Given the description of an element on the screen output the (x, y) to click on. 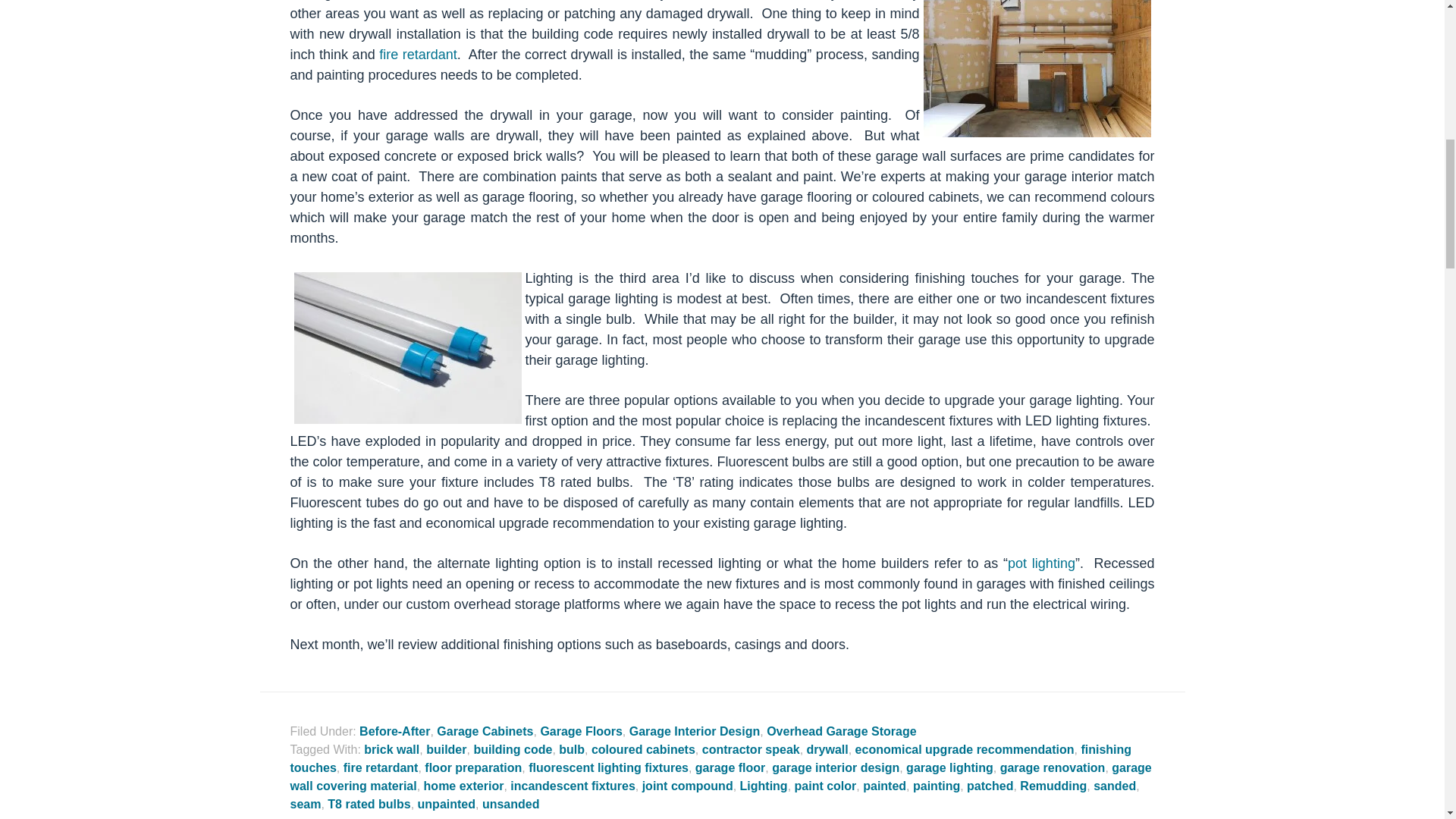
Fire retardant (416, 54)
T8 LED tube light (407, 347)
